Given the description of an element on the screen output the (x, y) to click on. 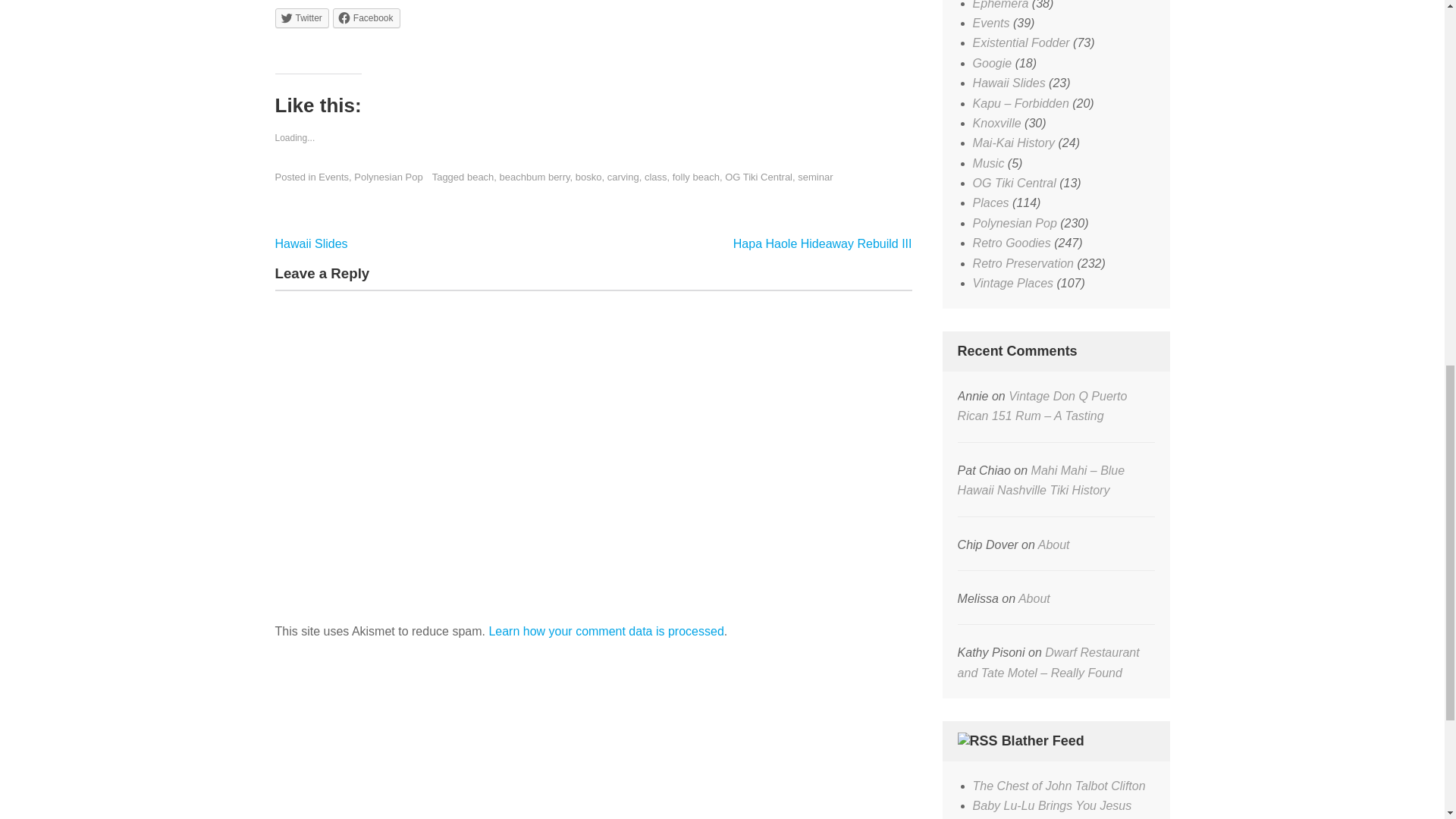
Events (333, 176)
Click to share on Facebook (366, 17)
Click to share on Twitter (302, 17)
beachbum berry (534, 176)
class (655, 176)
folly beach (695, 176)
Twitter (302, 17)
Learn how your comment data is processed (605, 631)
Hawaii Slides (311, 242)
Facebook (366, 17)
Hapa Haole Hideaway Rebuild III (822, 242)
seminar (814, 176)
bosko (588, 176)
carving (623, 176)
